Given the description of an element on the screen output the (x, y) to click on. 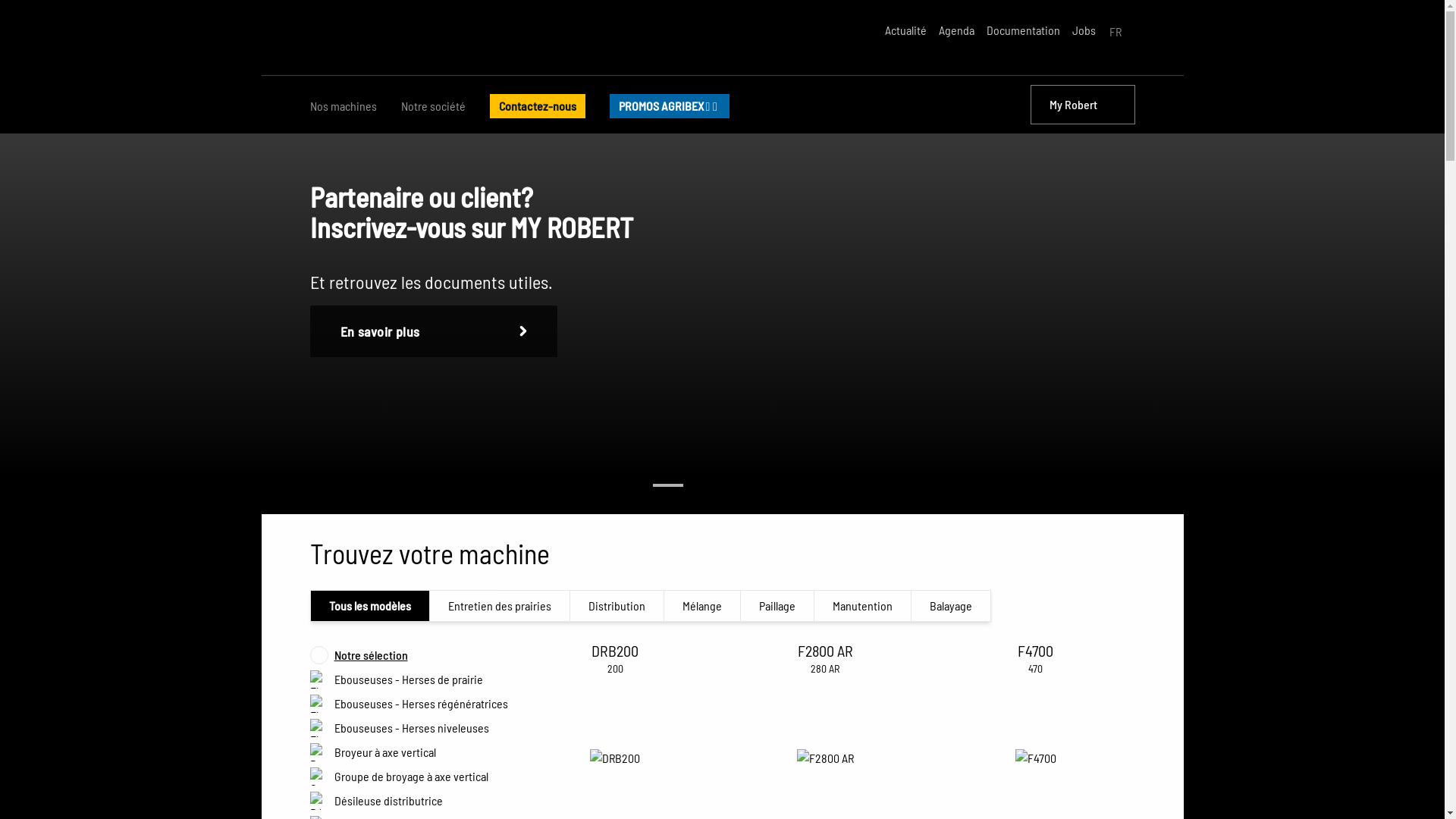
Manutention Element type: text (862, 605)
Paillage Element type: text (776, 605)
My Robert Element type: text (1081, 104)
Ebouseuses - Herses de prairie Element type: text (412, 679)
Entretien des prairies Element type: text (498, 605)
Balayage Element type: text (950, 605)
Distribution Element type: text (616, 605)
En savoir plus Element type: text (432, 379)
Jobs Element type: text (1083, 30)
Documentation Element type: text (1022, 30)
Nos machines Element type: text (342, 104)
Agenda Element type: text (956, 30)
Ebouseuses - Herses niveleuses Element type: text (412, 727)
Contactez-nous Element type: text (537, 104)
